Given the description of an element on the screen output the (x, y) to click on. 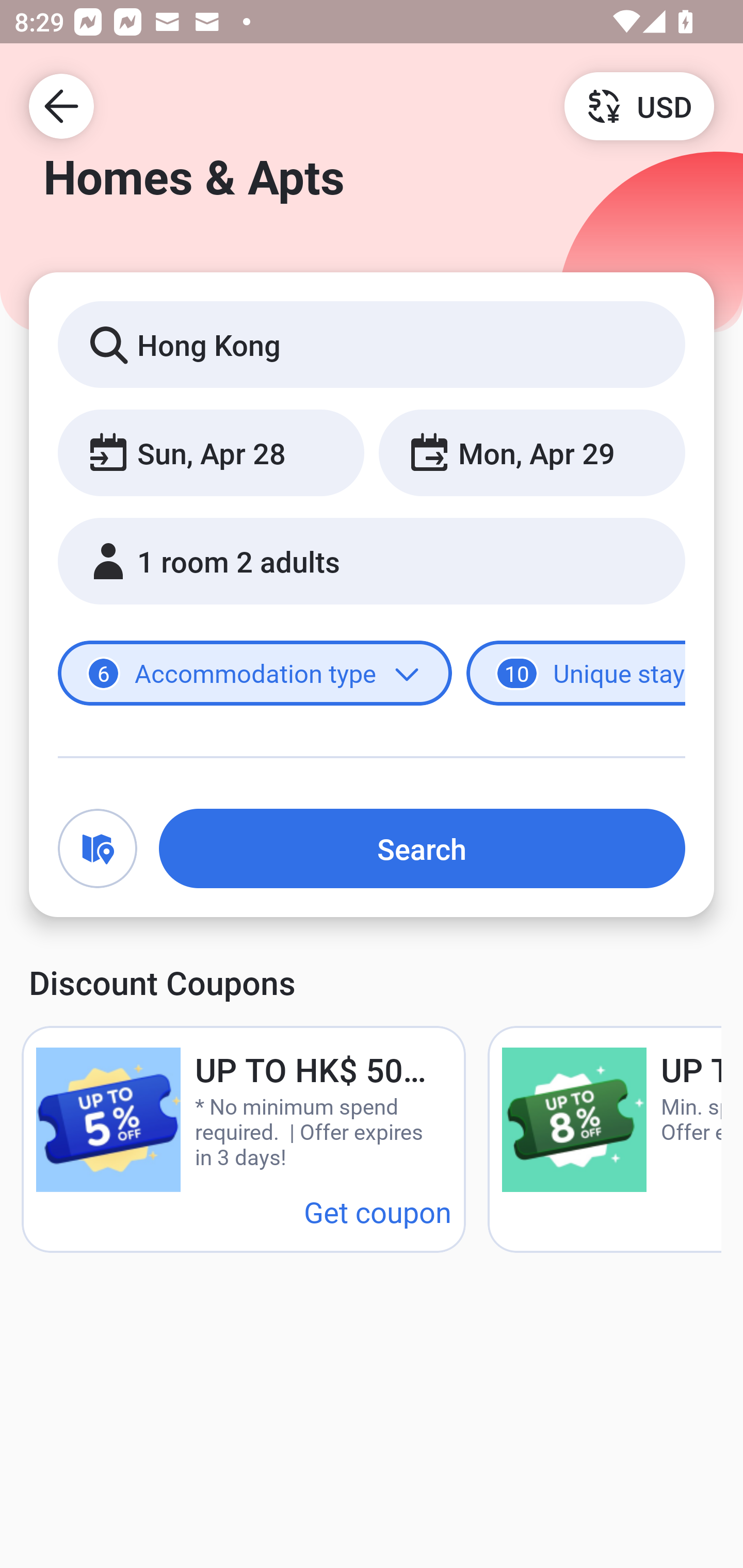
USD (639, 105)
Hong Kong (371, 344)
Sun, Apr 28 (210, 452)
Mon, Apr 29 (531, 452)
1 room 2 adults (371, 561)
6 Accommodation type (254, 673)
10 Unique stays (575, 673)
Search (422, 848)
Get coupon (377, 1211)
